Given the description of an element on the screen output the (x, y) to click on. 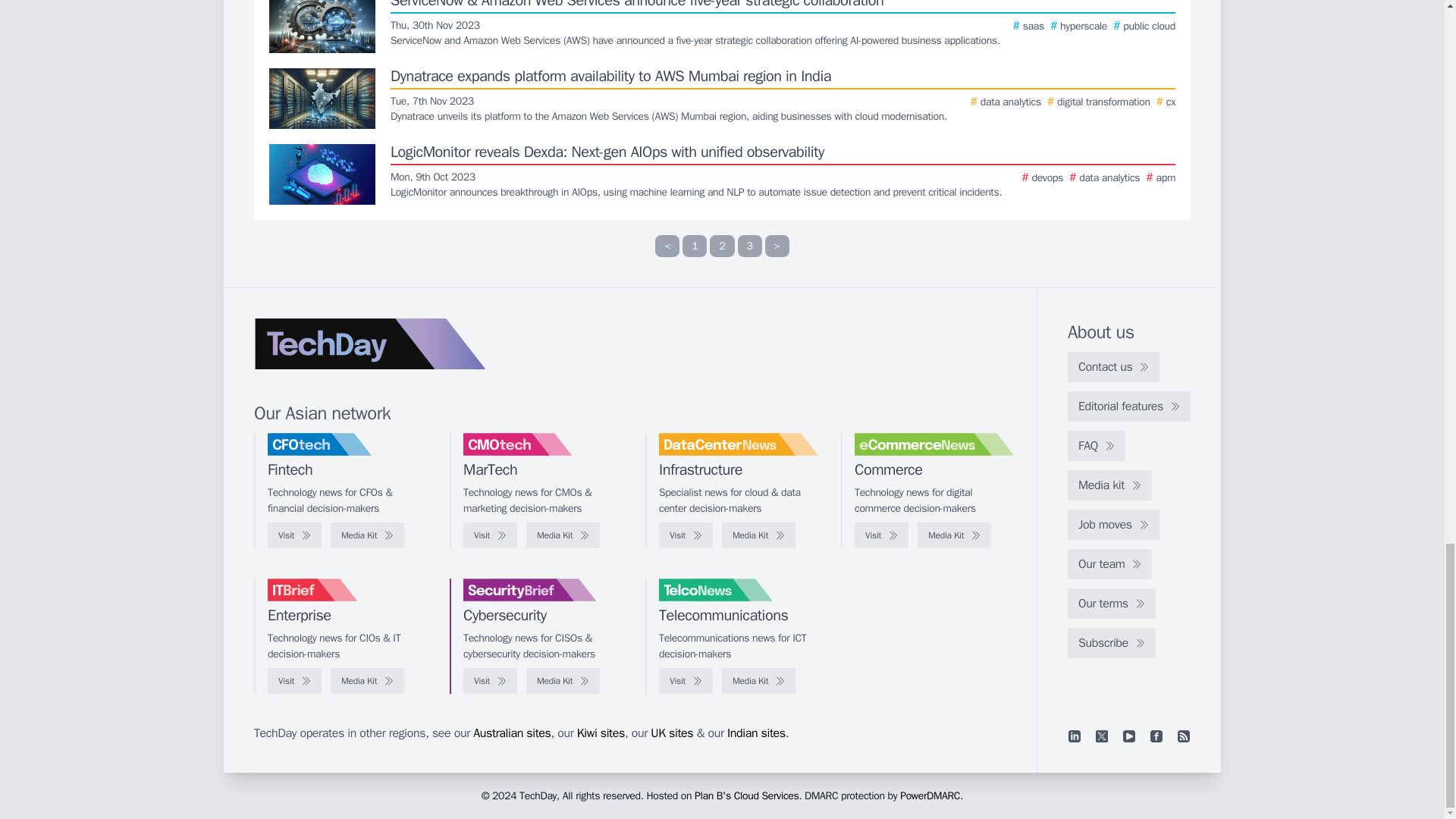
Visit (294, 534)
2 (721, 246)
1 (694, 246)
Media Kit (562, 534)
Visit (489, 534)
Media Kit (367, 534)
3 (749, 246)
